Given the description of an element on the screen output the (x, y) to click on. 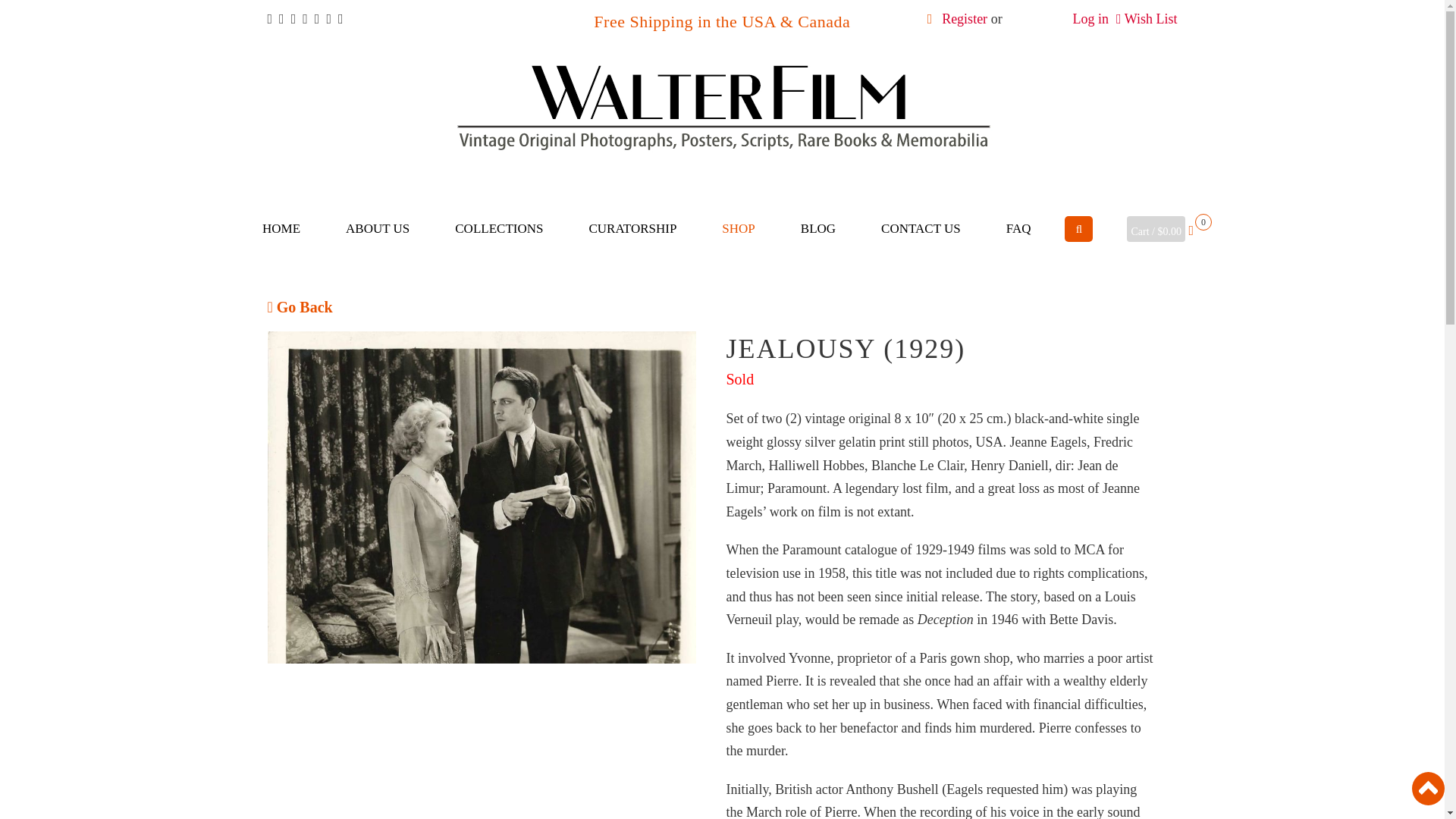
SHOP (737, 229)
Wish List (1150, 18)
COLLECTIONS (499, 229)
HOME (280, 229)
BLOG (818, 229)
CONTACT US (920, 229)
Register (964, 18)
Log in (1089, 18)
CURATORSHIP (631, 229)
ABOUT US (377, 229)
